Given the description of an element on the screen output the (x, y) to click on. 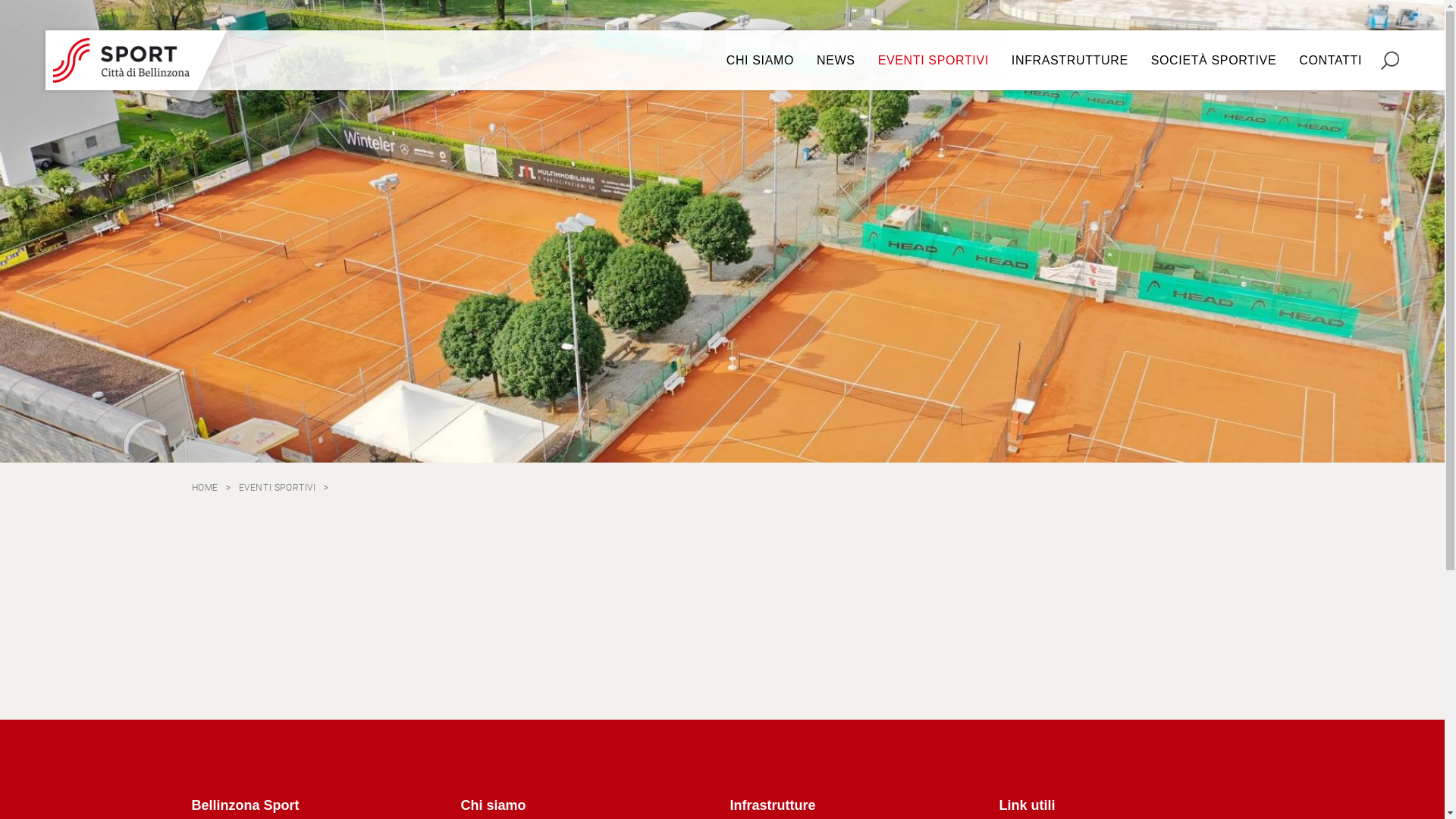
EVENTI SPORTIVI Element type: text (277, 487)
CHI SIAMO Element type: text (760, 60)
EVENTI SPORTIVI Element type: text (933, 60)
INFRASTRUTTURE Element type: text (1069, 60)
CONTATTI Element type: text (1330, 60)
Cerca nel sito Element type: hover (1389, 60)
NEWS Element type: text (835, 60)
